Given the description of an element on the screen output the (x, y) to click on. 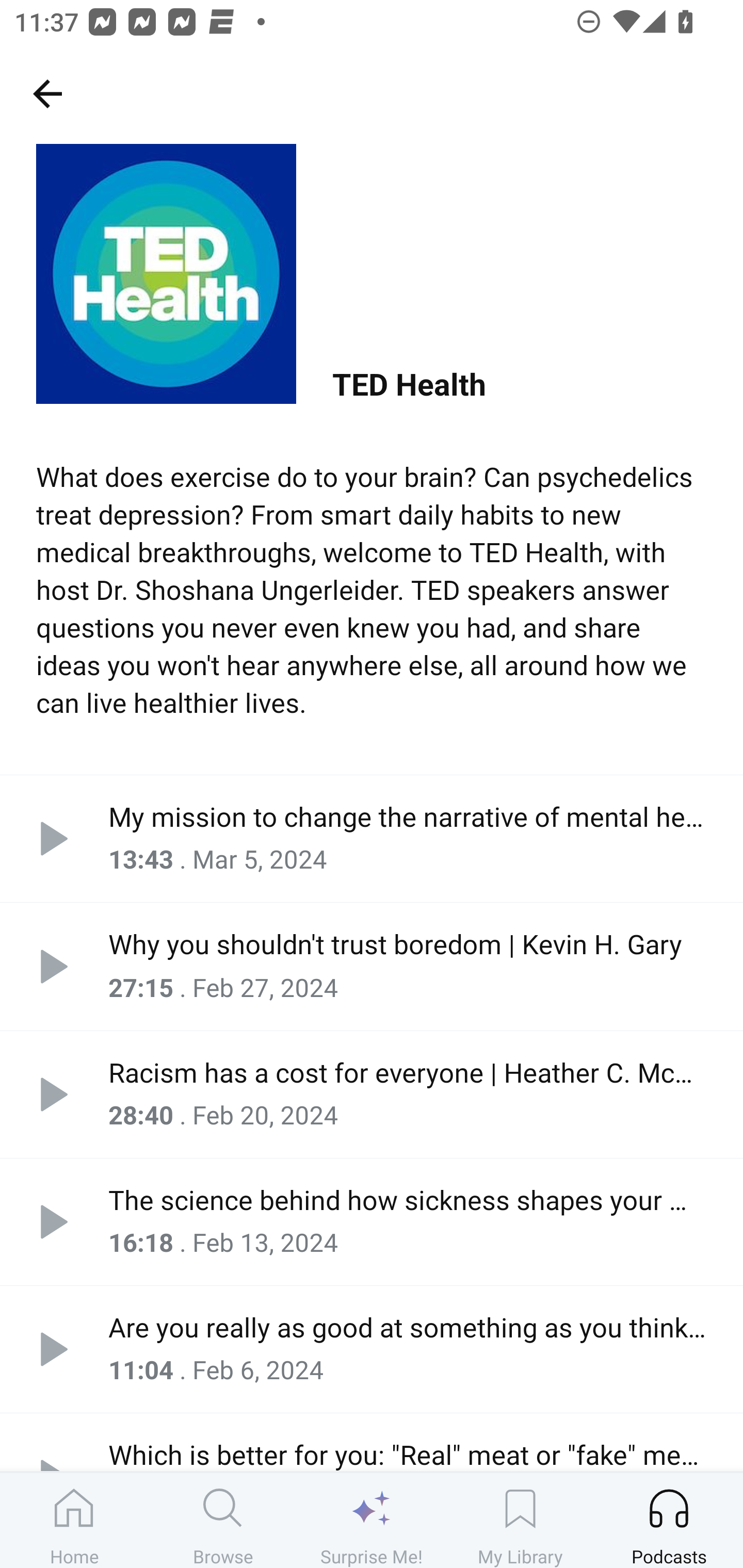
TED Podcasts, back (47, 92)
Home (74, 1520)
Browse (222, 1520)
Surprise Me! (371, 1520)
My Library (519, 1520)
Podcasts (668, 1520)
